Given the description of an element on the screen output the (x, y) to click on. 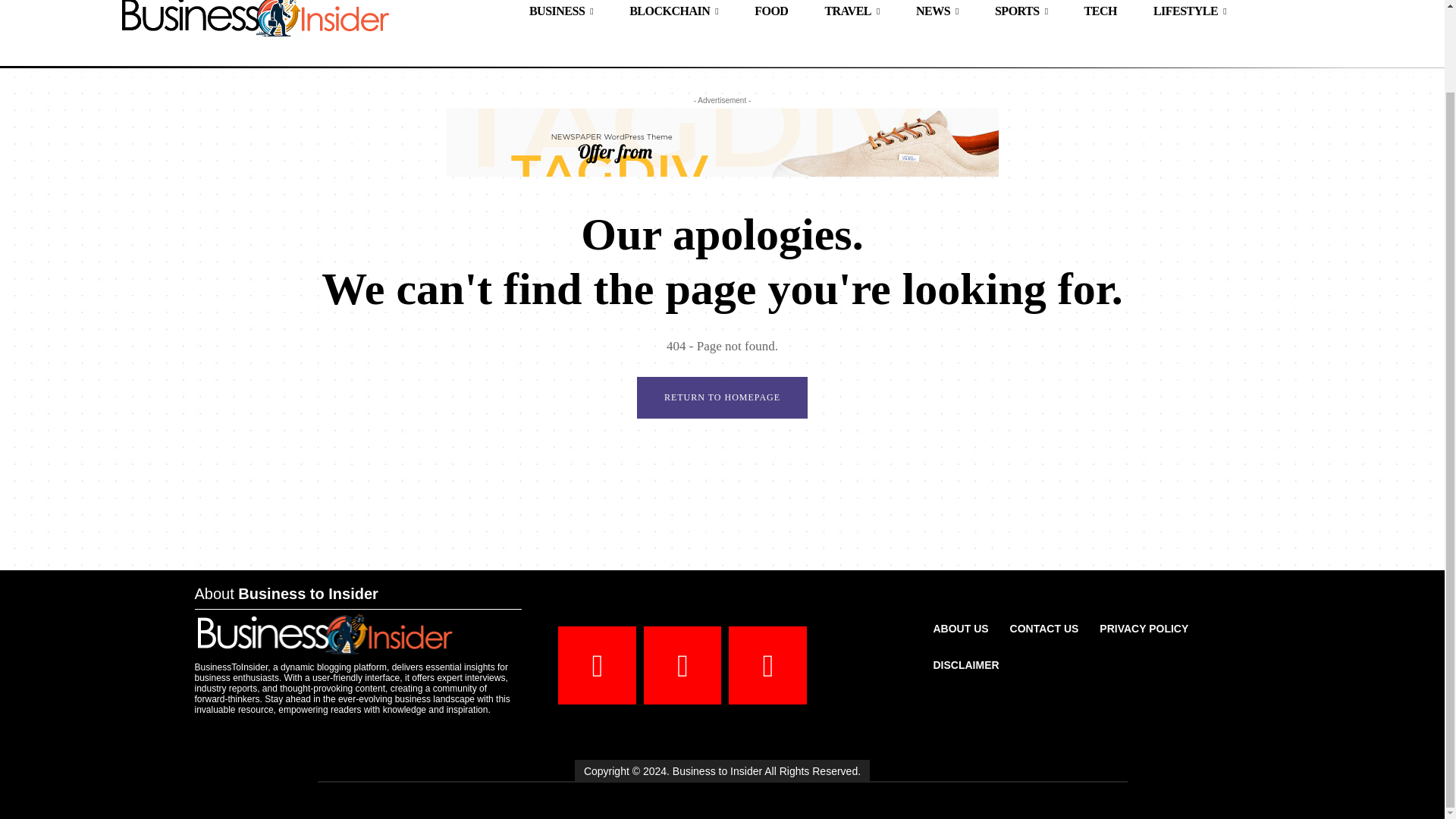
Facebook (596, 665)
BLOCKCHAIN (673, 15)
FOOD (771, 15)
BUSINESS (561, 15)
TRAVEL (852, 15)
Return to Homepage (722, 397)
Instagram (682, 665)
Twitter (767, 665)
